Given the description of an element on the screen output the (x, y) to click on. 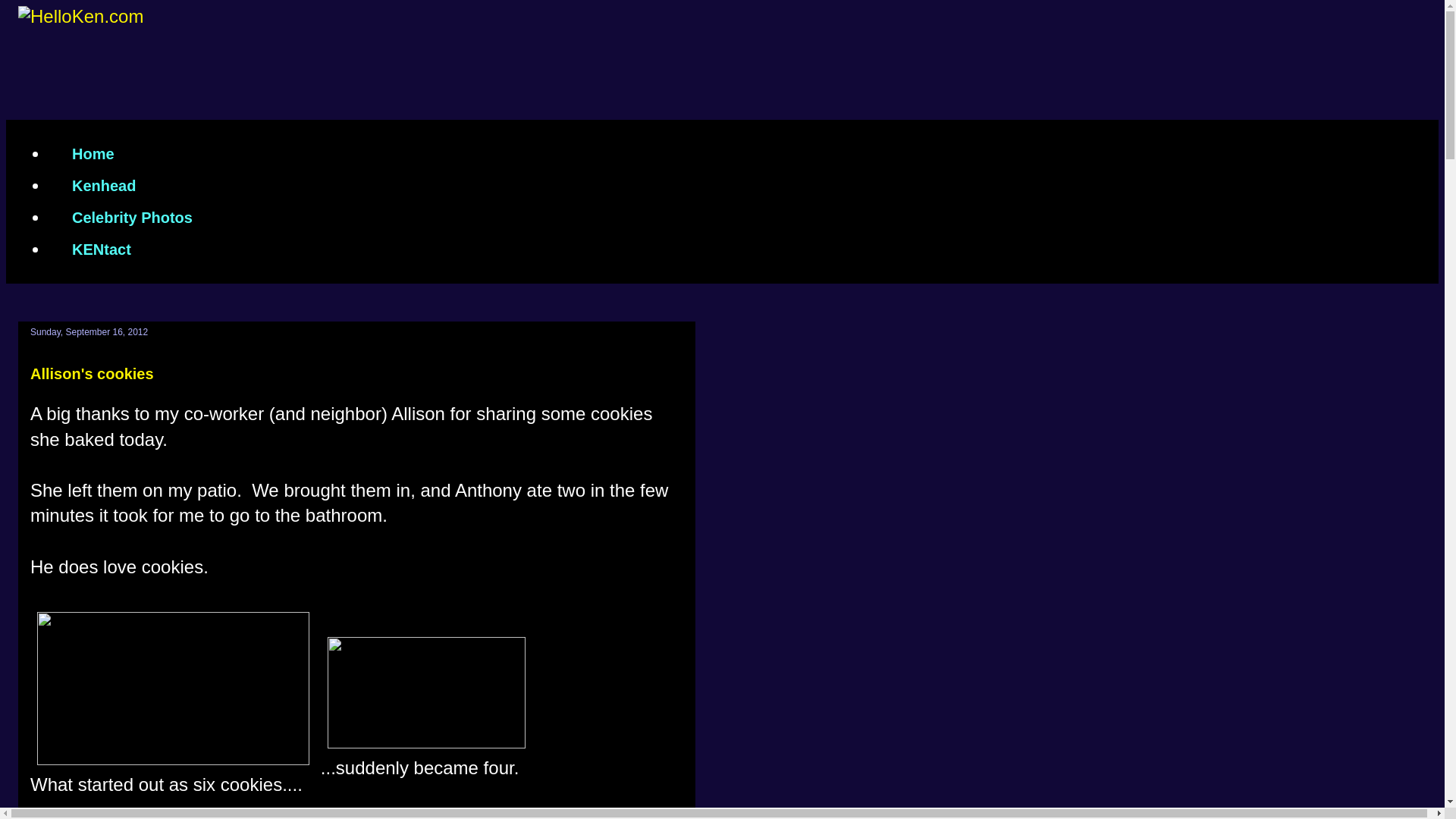
Kenhead (103, 185)
Celebrity Photos (131, 217)
KENtact (101, 249)
Home (92, 153)
